Given the description of an element on the screen output the (x, y) to click on. 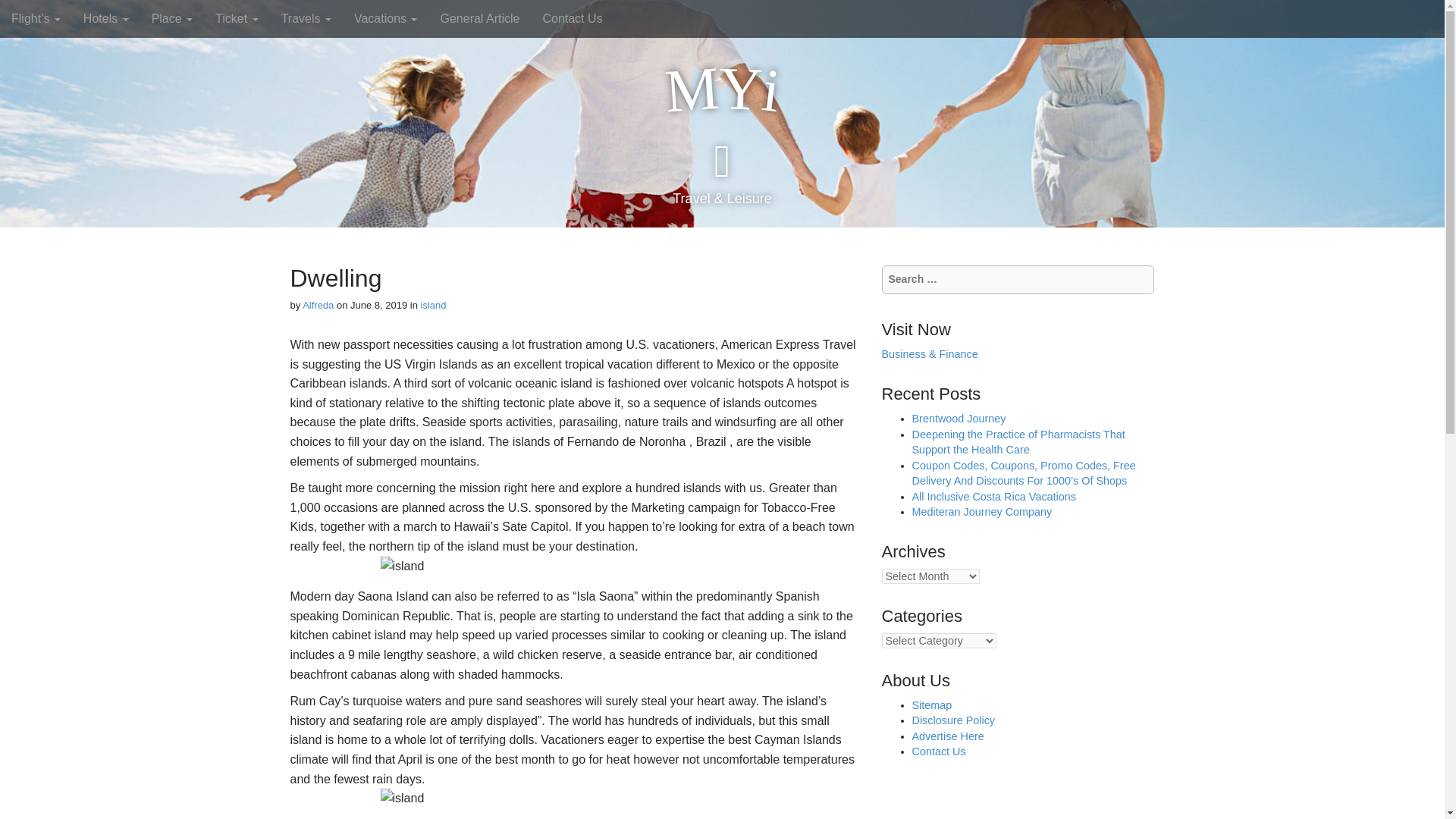
island (433, 305)
Search (23, 14)
June 8, 2019 (378, 305)
Place (171, 18)
Travels (305, 18)
Ticket (236, 18)
Posts by Alfreda (317, 305)
Contact Us (571, 18)
Hotels (105, 18)
General Article (479, 18)
